Given the description of an element on the screen output the (x, y) to click on. 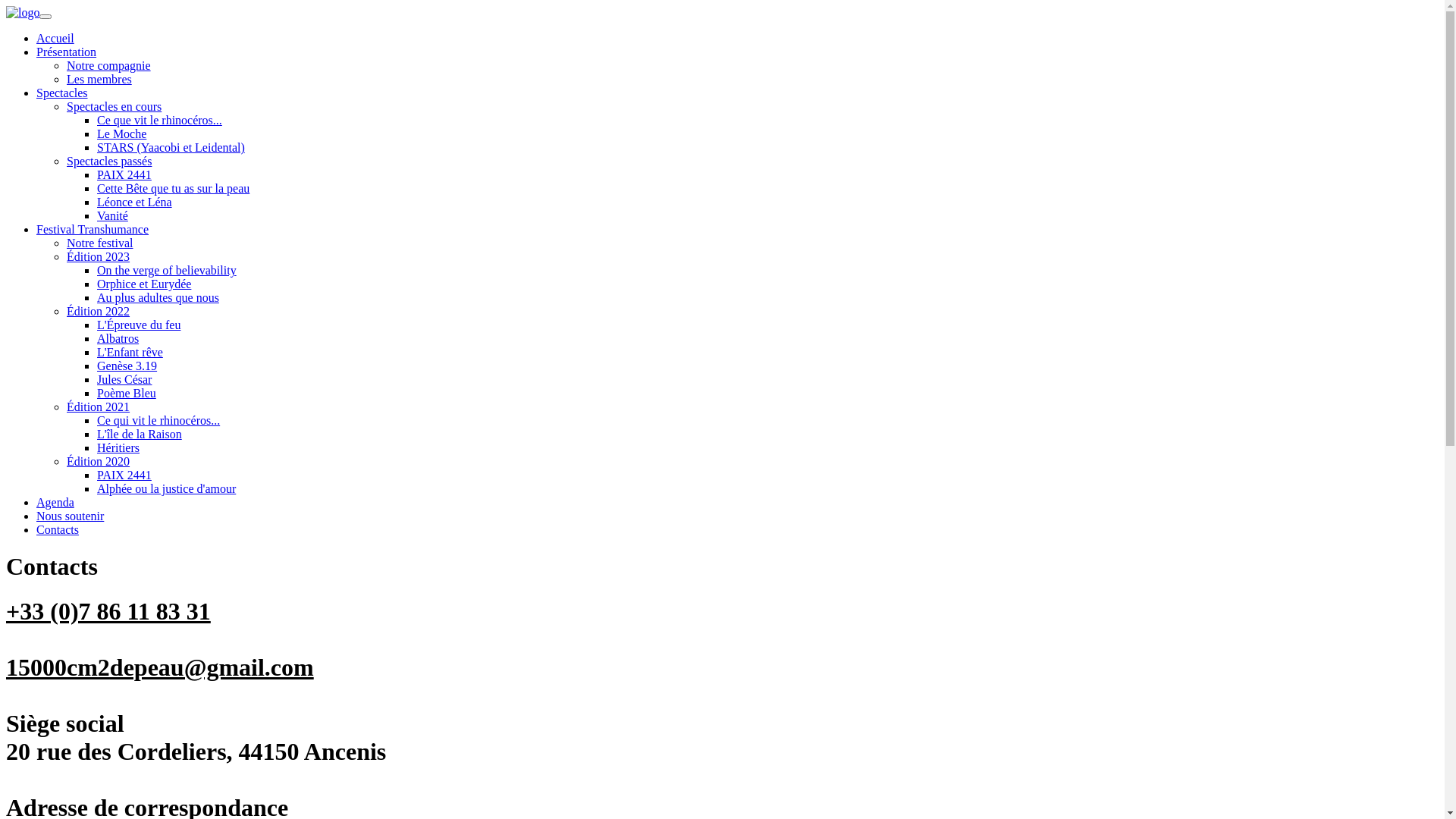
Contacts Element type: text (57, 529)
STARS (Yaacobi et Leidental) Element type: text (170, 147)
Le Moche Element type: text (121, 133)
Les membres Element type: text (98, 78)
Festival Transhumance Element type: text (92, 228)
Spectacles en cours Element type: text (113, 106)
Notre compagnie Element type: text (108, 65)
Spectacles Element type: text (61, 92)
Au plus adultes que nous Element type: text (158, 297)
On the verge of believability Element type: text (166, 269)
Albatros Element type: text (117, 338)
PAIX 2441 Element type: text (124, 474)
Agenda Element type: text (55, 501)
PAIX 2441 Element type: text (124, 174)
Notre festival Element type: text (99, 242)
Nous soutenir Element type: text (69, 515)
Accueil Element type: text (55, 37)
